Given the description of an element on the screen output the (x, y) to click on. 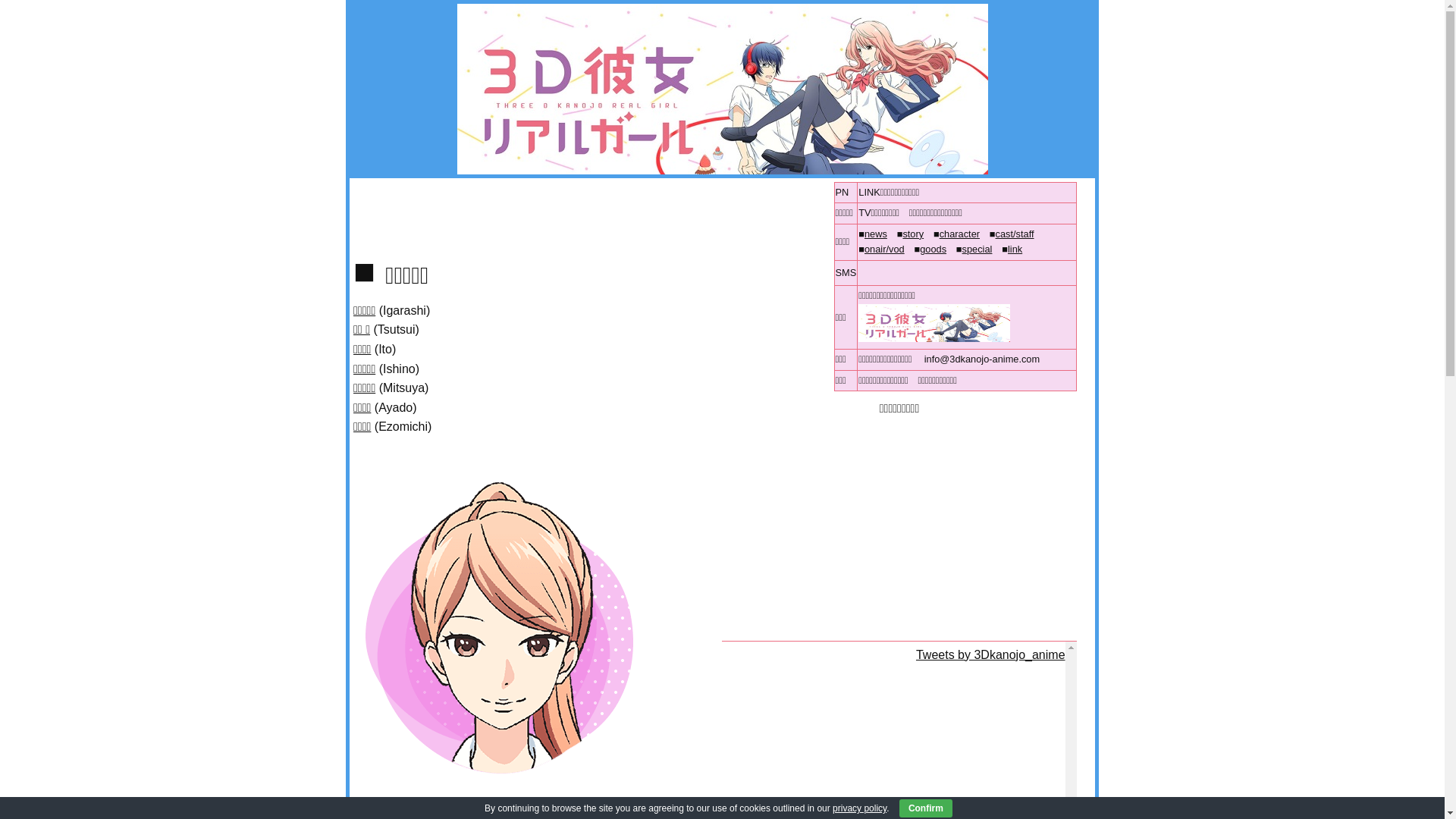
news Element type: text (875, 233)
cast/staff Element type: text (1014, 233)
Twitter Tweet Button Element type: hover (886, 270)
story Element type: text (912, 233)
special Element type: text (977, 248)
onair/vod Element type: text (884, 248)
Tweets by 3Dkanojo_anime Element type: text (990, 654)
character Element type: text (959, 233)
Confirm Element type: text (925, 808)
privacy policy Element type: text (859, 808)
goods Element type: text (932, 248)
link Element type: text (1014, 248)
